Given the description of an element on the screen output the (x, y) to click on. 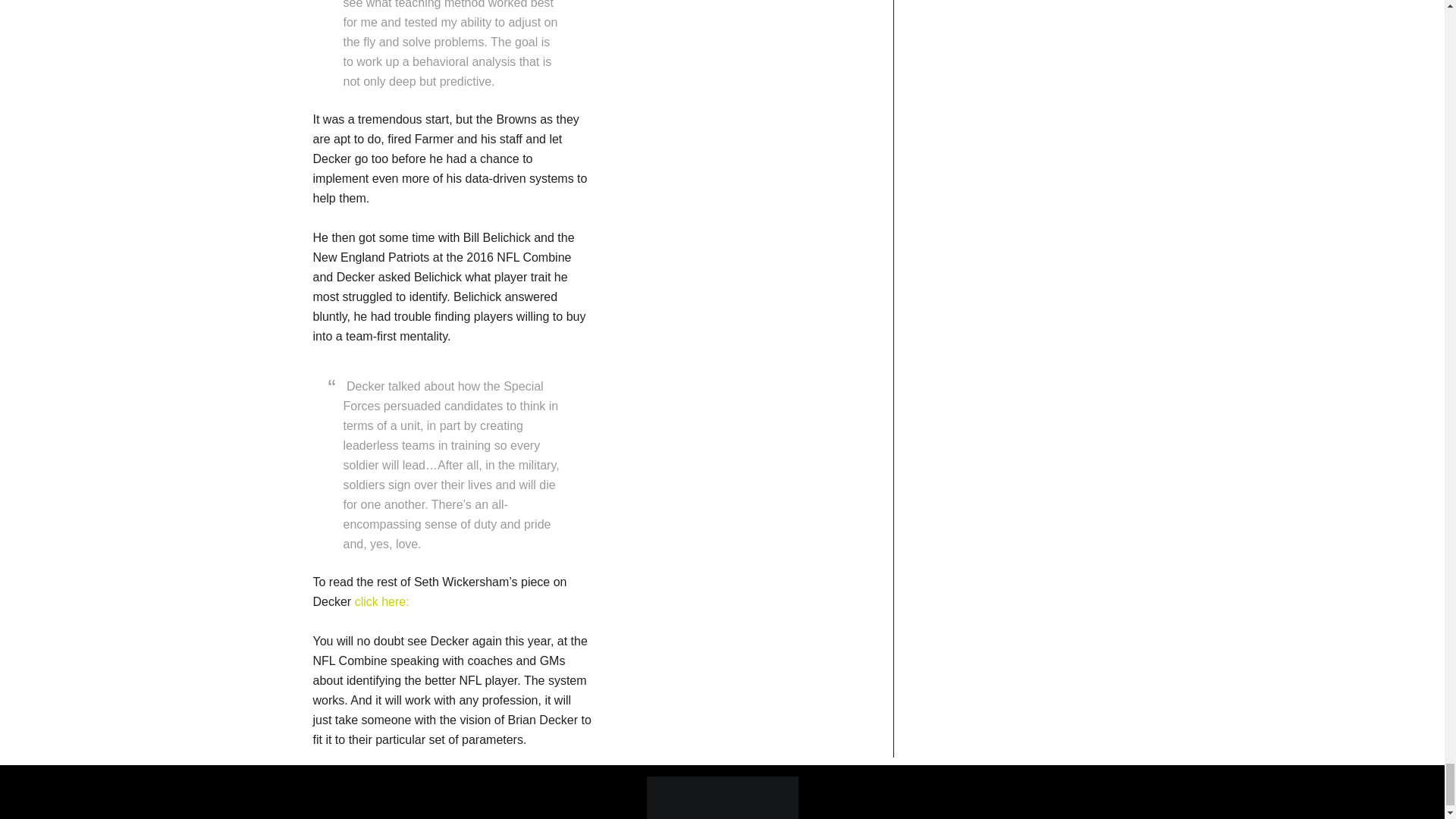
click here: (382, 601)
